Given the description of an element on the screen output the (x, y) to click on. 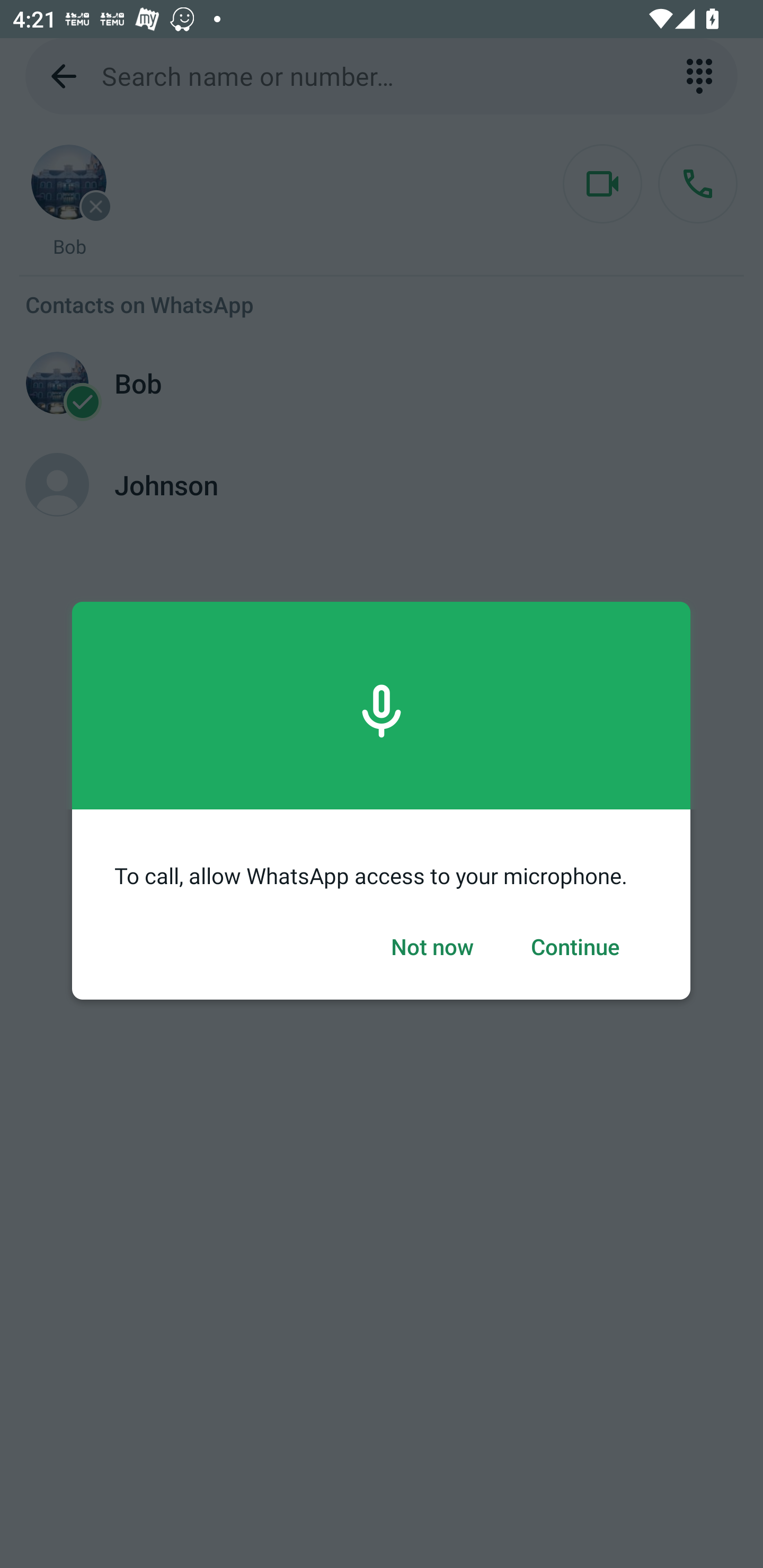
NOT NOW (432, 947)
CONTINUE (575, 947)
